Given the description of an element on the screen output the (x, y) to click on. 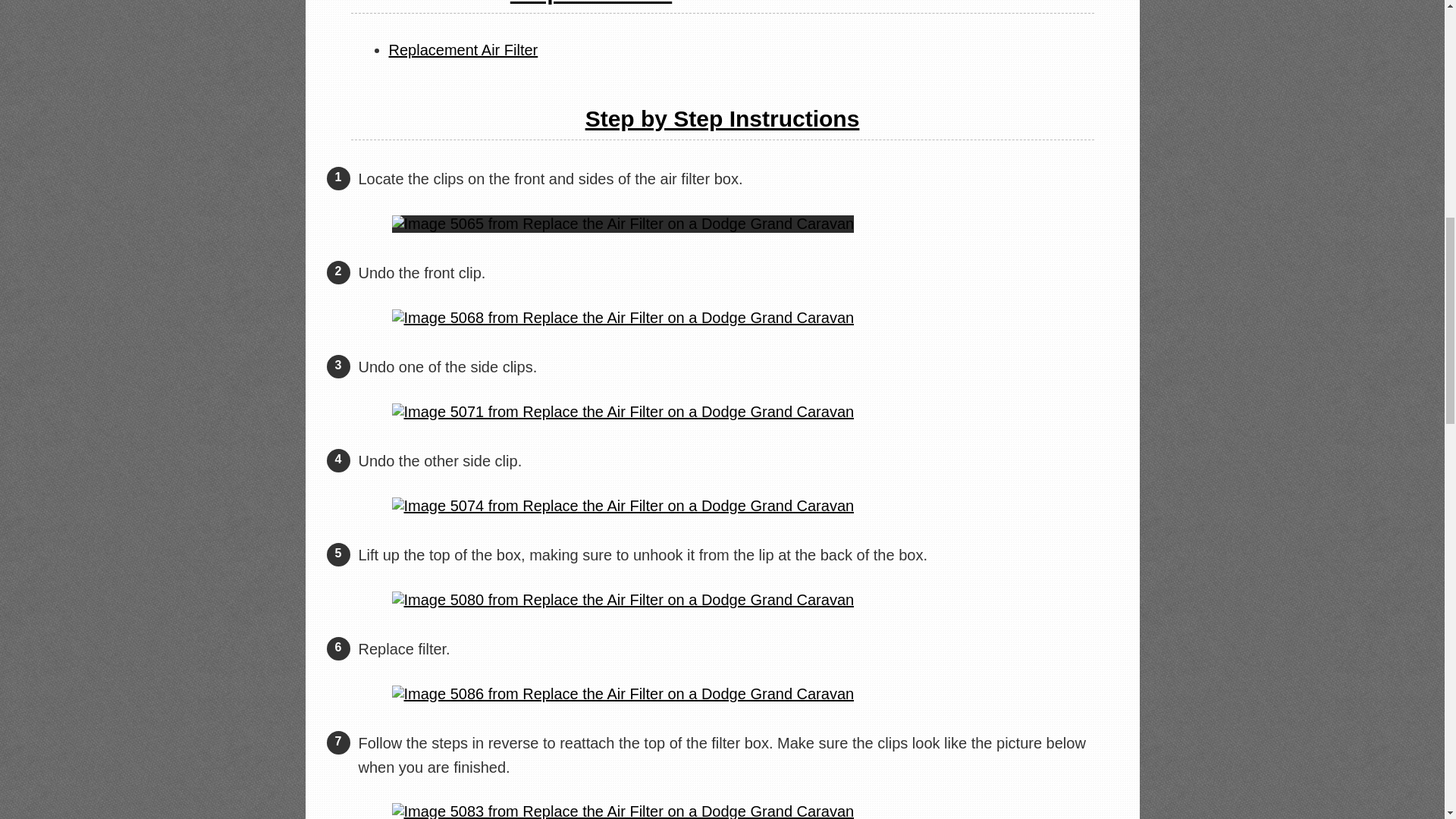
Step by Step Instructions (722, 118)
Required Parts (591, 2)
Replacement Air Filter (462, 49)
